Given the description of an element on the screen output the (x, y) to click on. 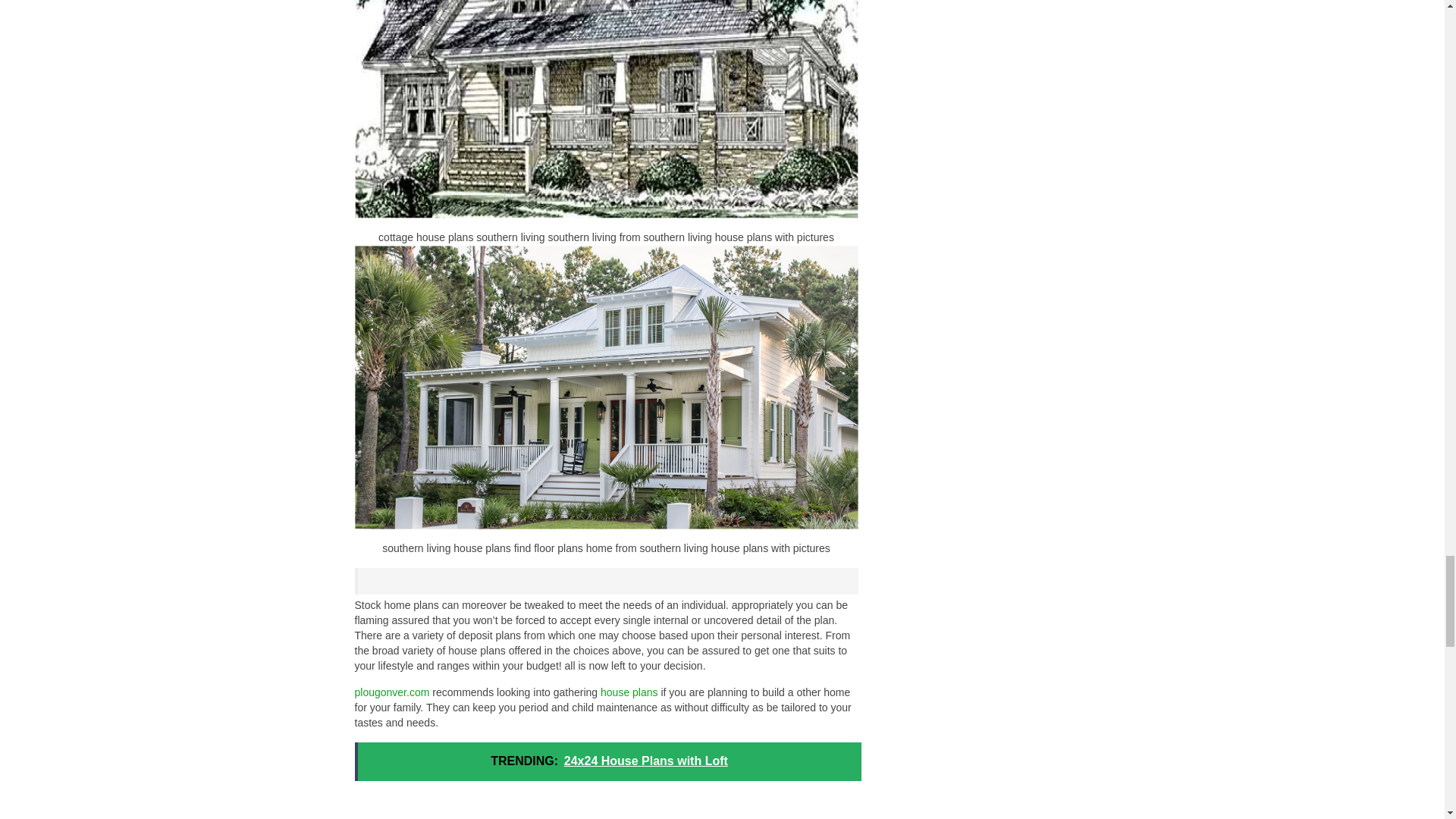
plougonver.com (392, 692)
house plans (628, 692)
cottage house plans southern living southern living (607, 109)
TRENDING:  24x24 House Plans with Loft (608, 761)
